Given the description of an element on the screen output the (x, y) to click on. 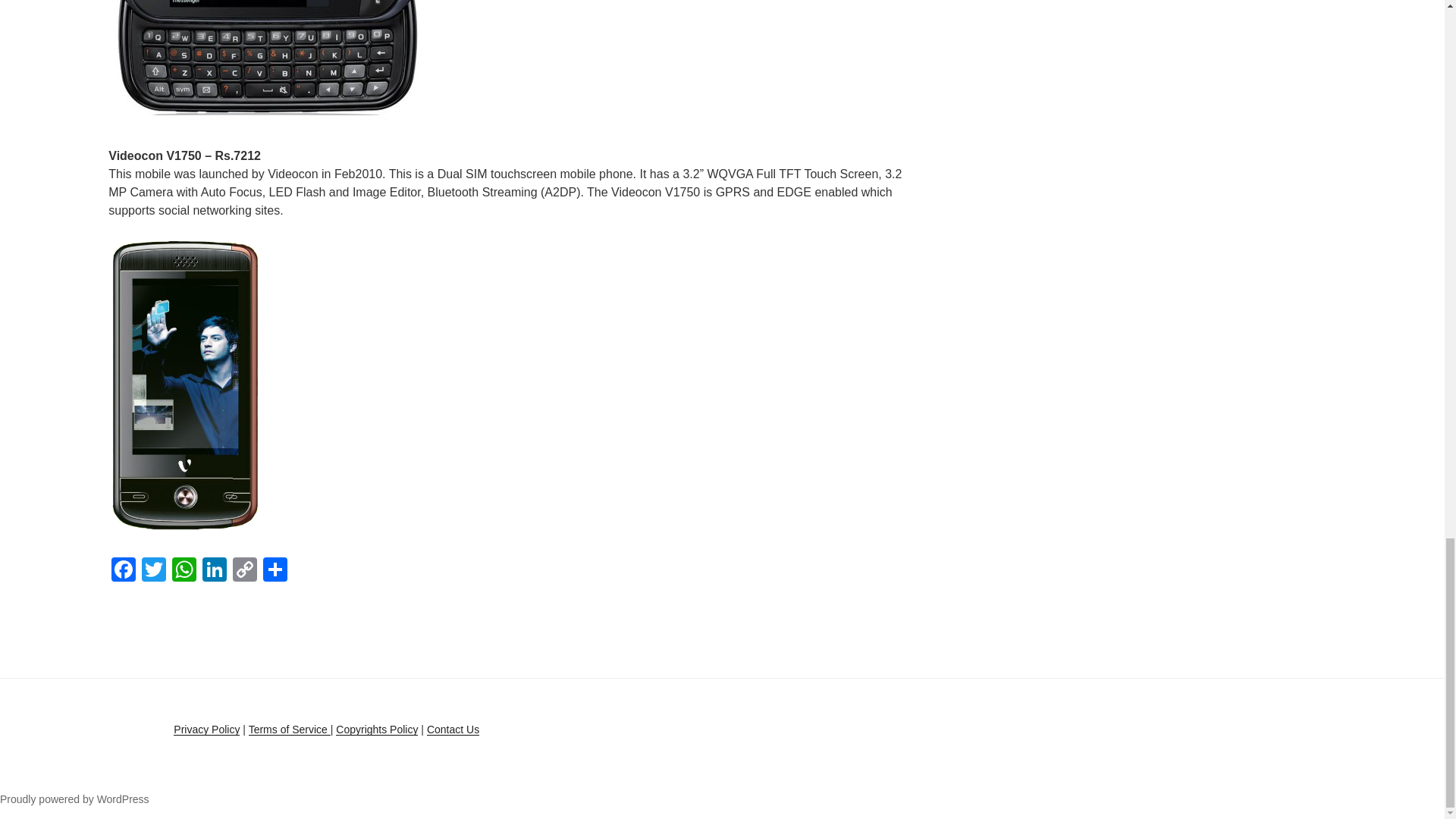
Twitter (153, 571)
LinkedIn (214, 571)
Copy Link (245, 571)
Copy Link (245, 571)
Twitter (153, 571)
Facebook (122, 571)
Facebook (122, 571)
LinkedIn (214, 571)
WhatsApp (183, 571)
WhatsApp (183, 571)
Share (274, 571)
